Given the description of an element on the screen output the (x, y) to click on. 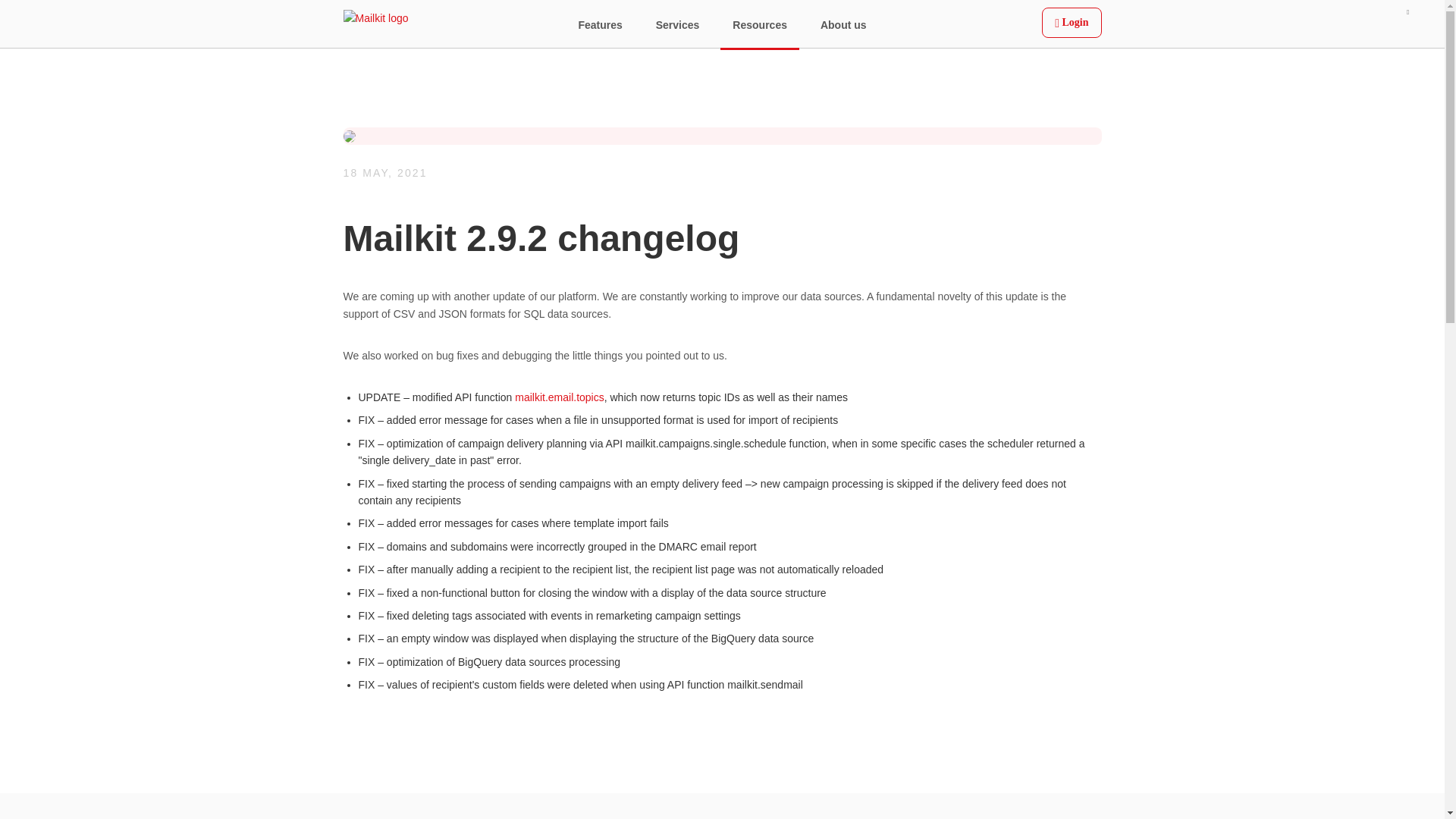
Language menu  (1022, 24)
